Given the description of an element on the screen output the (x, y) to click on. 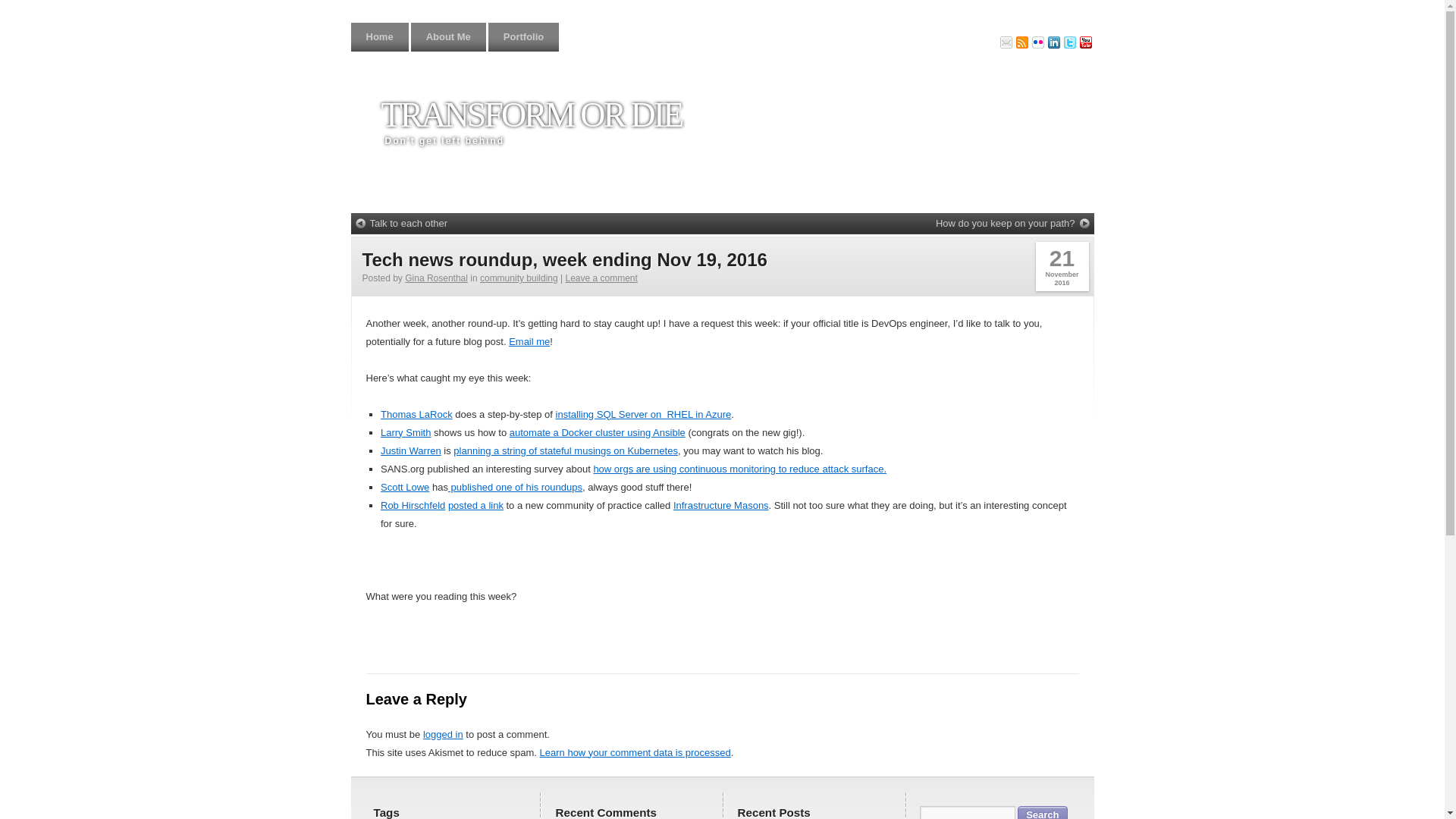
automate a Docker cluster using Ansible (597, 432)
Portfolio (523, 36)
Transform or Die (530, 114)
Leave a comment (600, 277)
Email me (529, 341)
Permalink to Tech news roundup, week ending Nov 19, 2016 (564, 259)
5:36 am (1062, 266)
Larry Smith (405, 432)
Infrastructure Masons (720, 505)
Gina Rosenthal (435, 277)
